Given the description of an element on the screen output the (x, y) to click on. 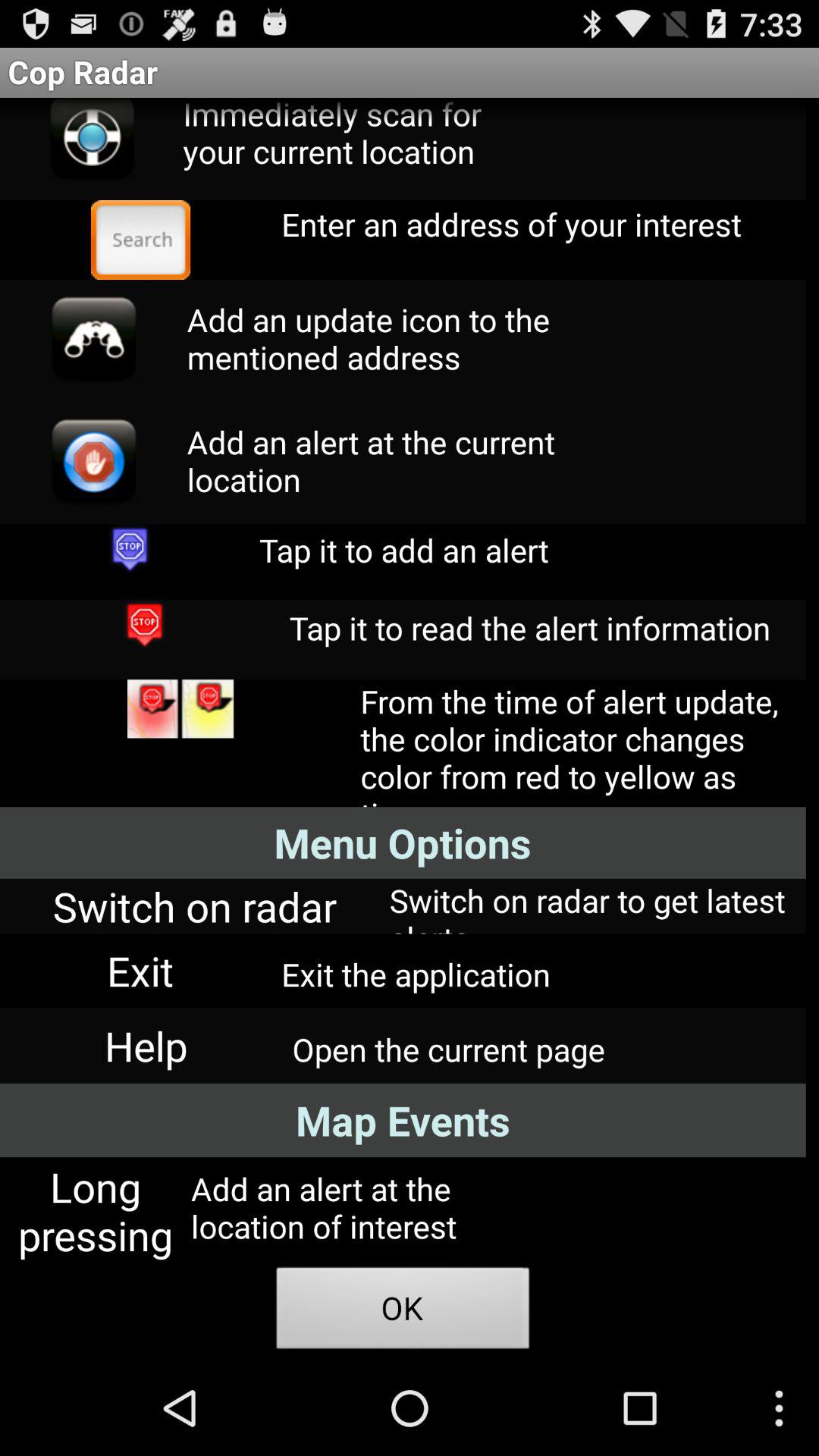
select ok (403, 1312)
